Given the description of an element on the screen output the (x, y) to click on. 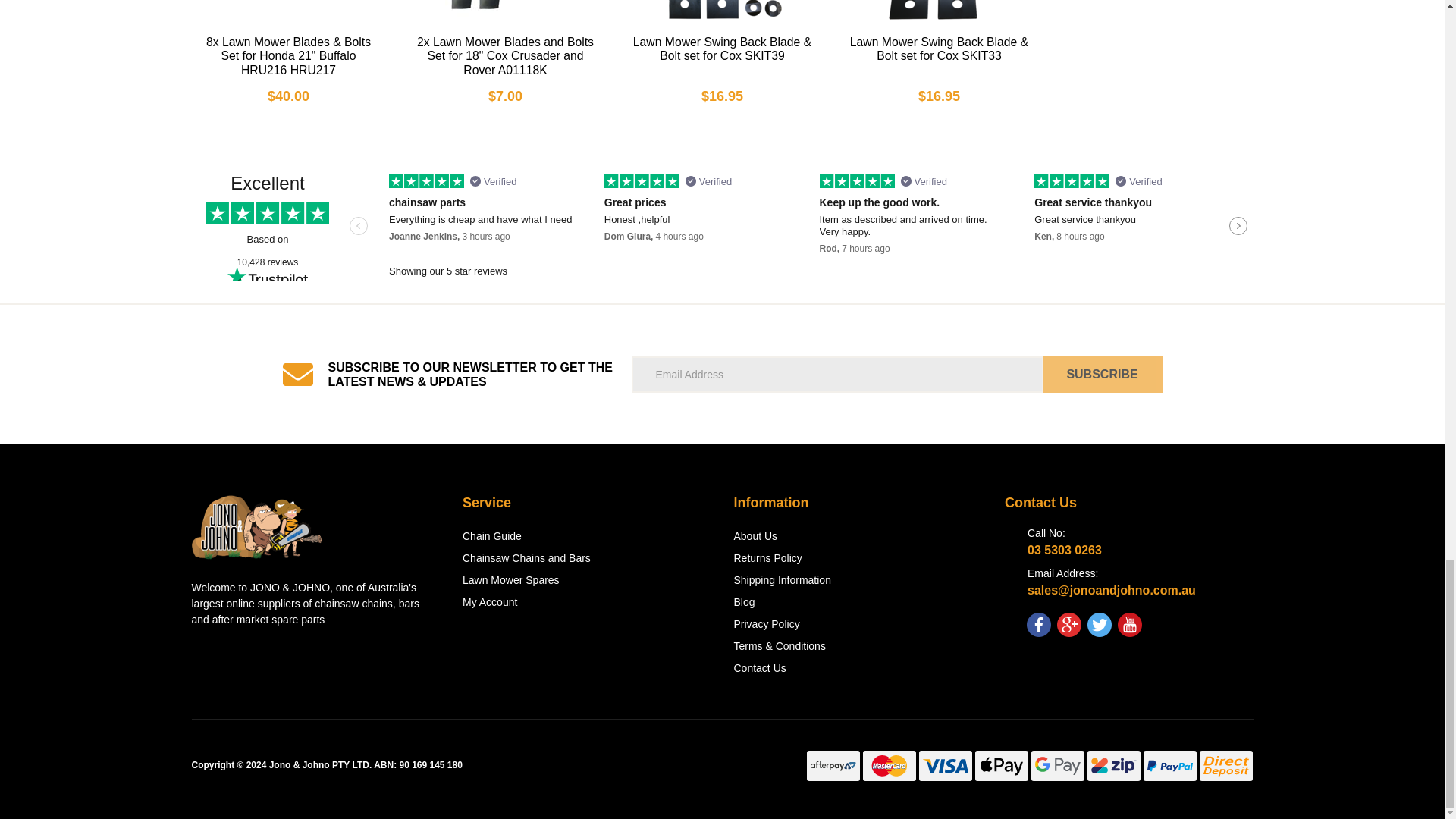
Customer reviews powered by Trustpilot (721, 227)
Subscribe (1101, 374)
